Given the description of an element on the screen output the (x, y) to click on. 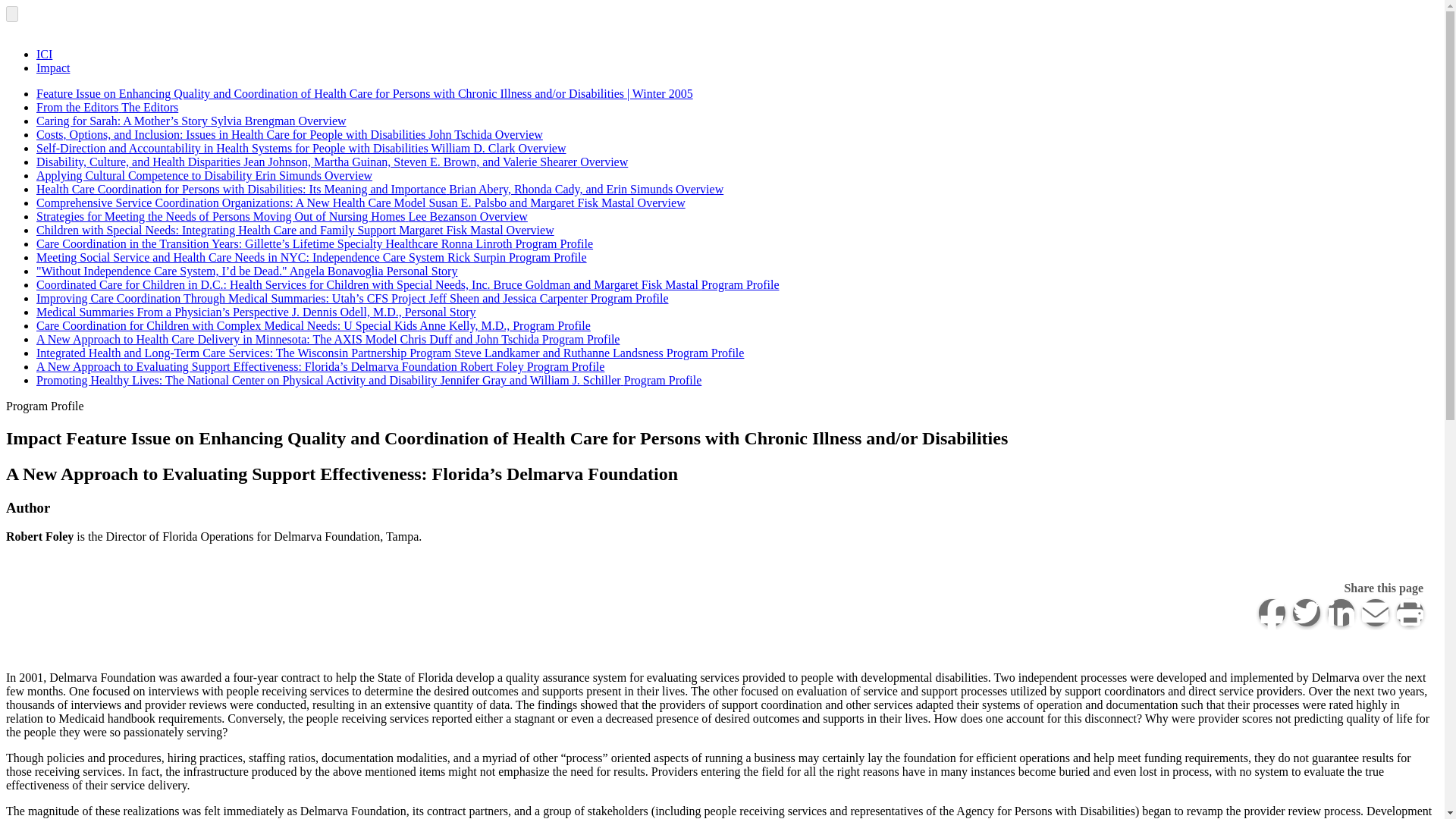
Share this page on Facebook. (1272, 612)
Share this page via email. (1375, 612)
Share this page on LinkedIn. (1340, 612)
From the Editors The Editors (106, 106)
Impact (52, 67)
Print this page. (1409, 612)
